Given the description of an element on the screen output the (x, y) to click on. 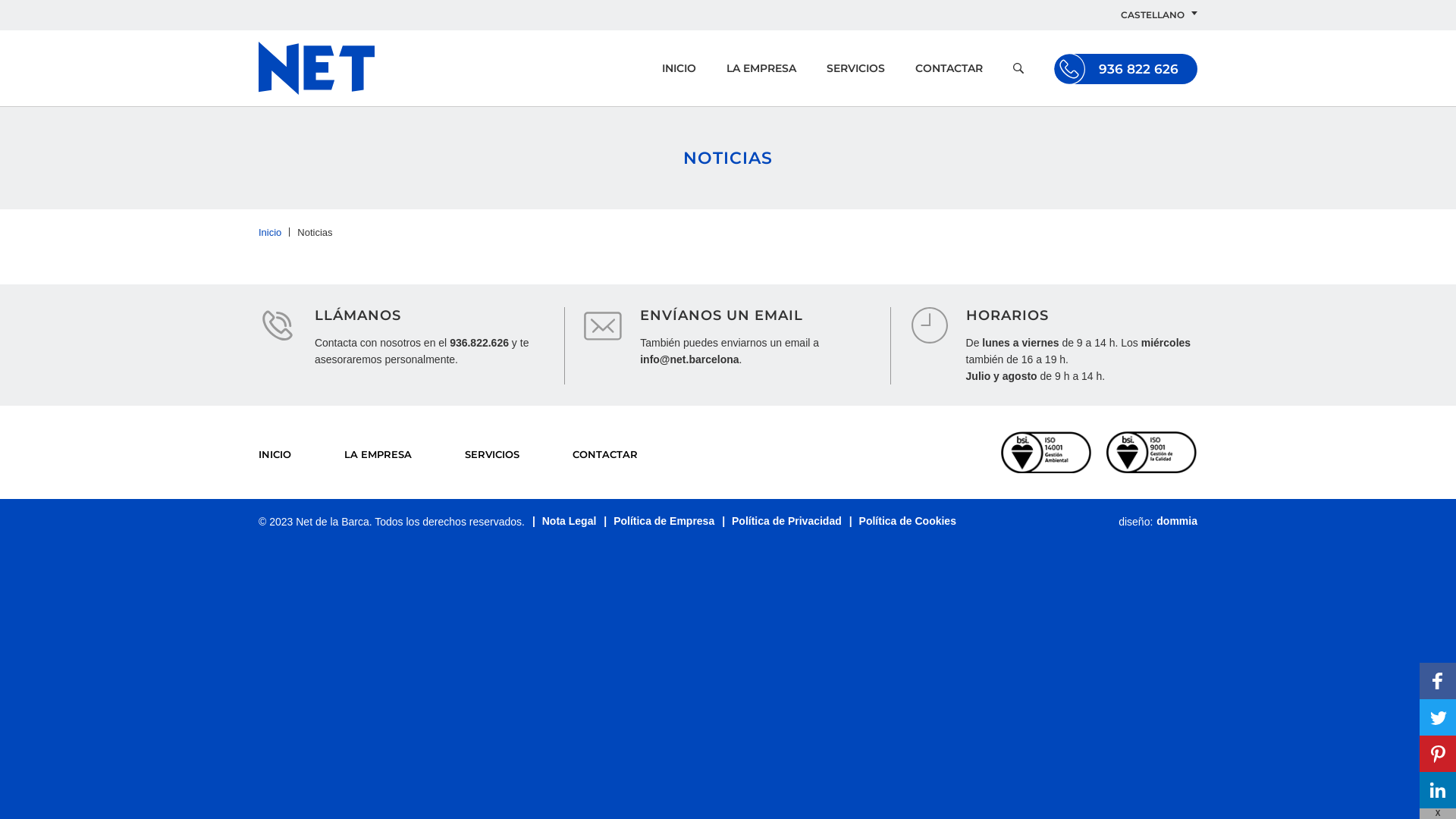
Net de la Barca Element type: hover (316, 67)
Nota Legal Element type: text (564, 521)
ISO 14001 Element type: hover (1045, 452)
INICIO Element type: text (679, 68)
info@net.barcelona Element type: text (689, 359)
ISO 9001 Element type: hover (1151, 452)
LA EMPRESA Element type: text (377, 454)
SERVICIOS Element type: text (855, 68)
936 822 626 Element type: text (1125, 67)
CONTACTAR Element type: text (948, 68)
Lupa para buscar Element type: hover (1018, 67)
CASTELLANO Element type: text (1152, 14)
LA EMPRESA Element type: text (761, 68)
CONTACTAR Element type: text (604, 454)
Inicio Element type: text (277, 232)
INICIO Element type: text (274, 454)
dommia Element type: text (1176, 521)
SERVICIOS Element type: text (491, 454)
